Given the description of an element on the screen output the (x, y) to click on. 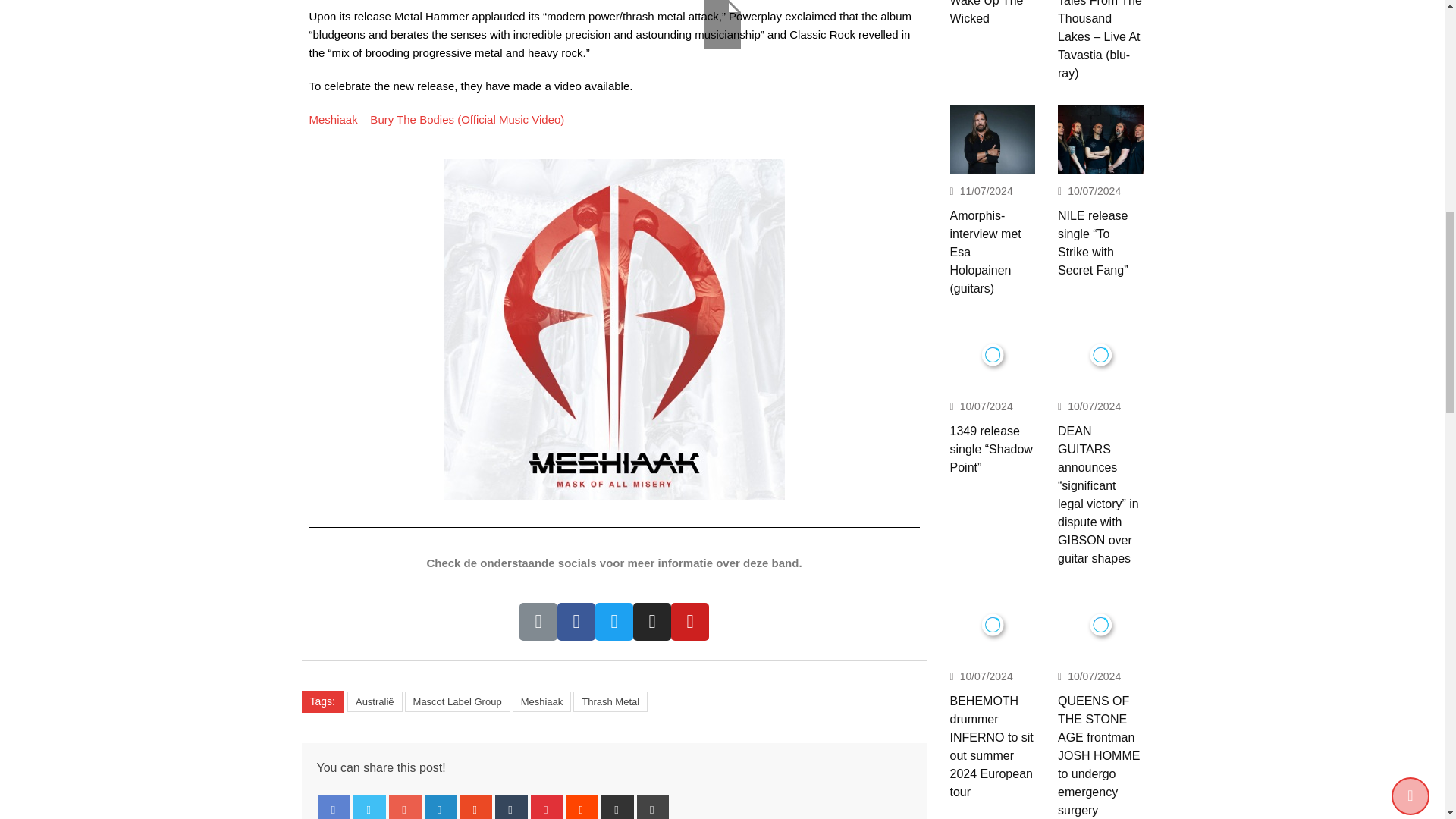
Meshiaak (542, 701)
Mascot Label Group (457, 701)
